Given the description of an element on the screen output the (x, y) to click on. 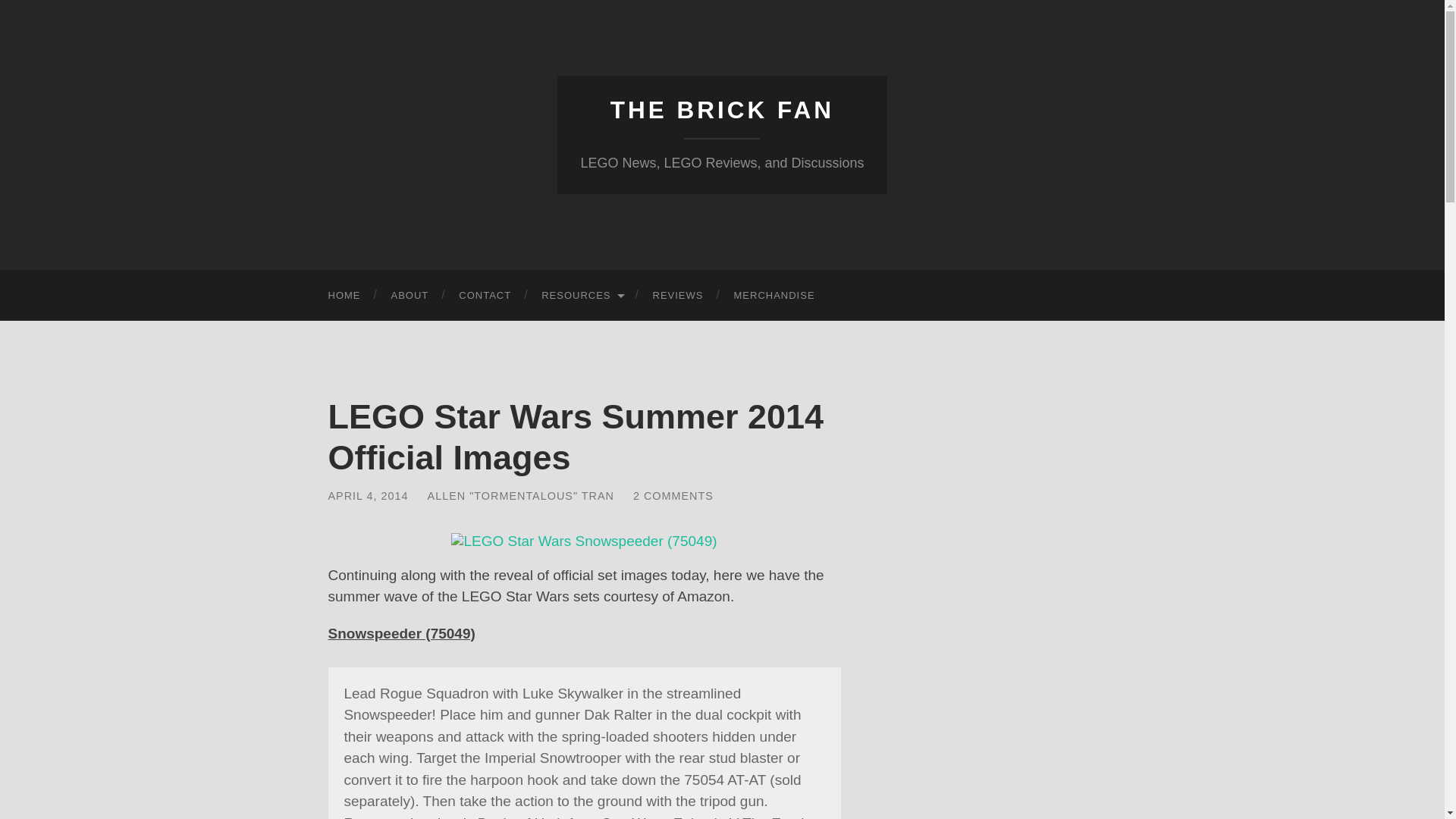
MERCHANDISE (774, 295)
HOME (344, 295)
ALLEN "TORMENTALOUS" TRAN (521, 495)
2 COMMENTS (673, 495)
Posts by Allen "Tormentalous" Tran (521, 495)
REVIEWS (678, 295)
CONTACT (484, 295)
ABOUT (409, 295)
RESOURCES (581, 295)
THE BRICK FAN (722, 109)
APRIL 4, 2014 (367, 495)
